Given the description of an element on the screen output the (x, y) to click on. 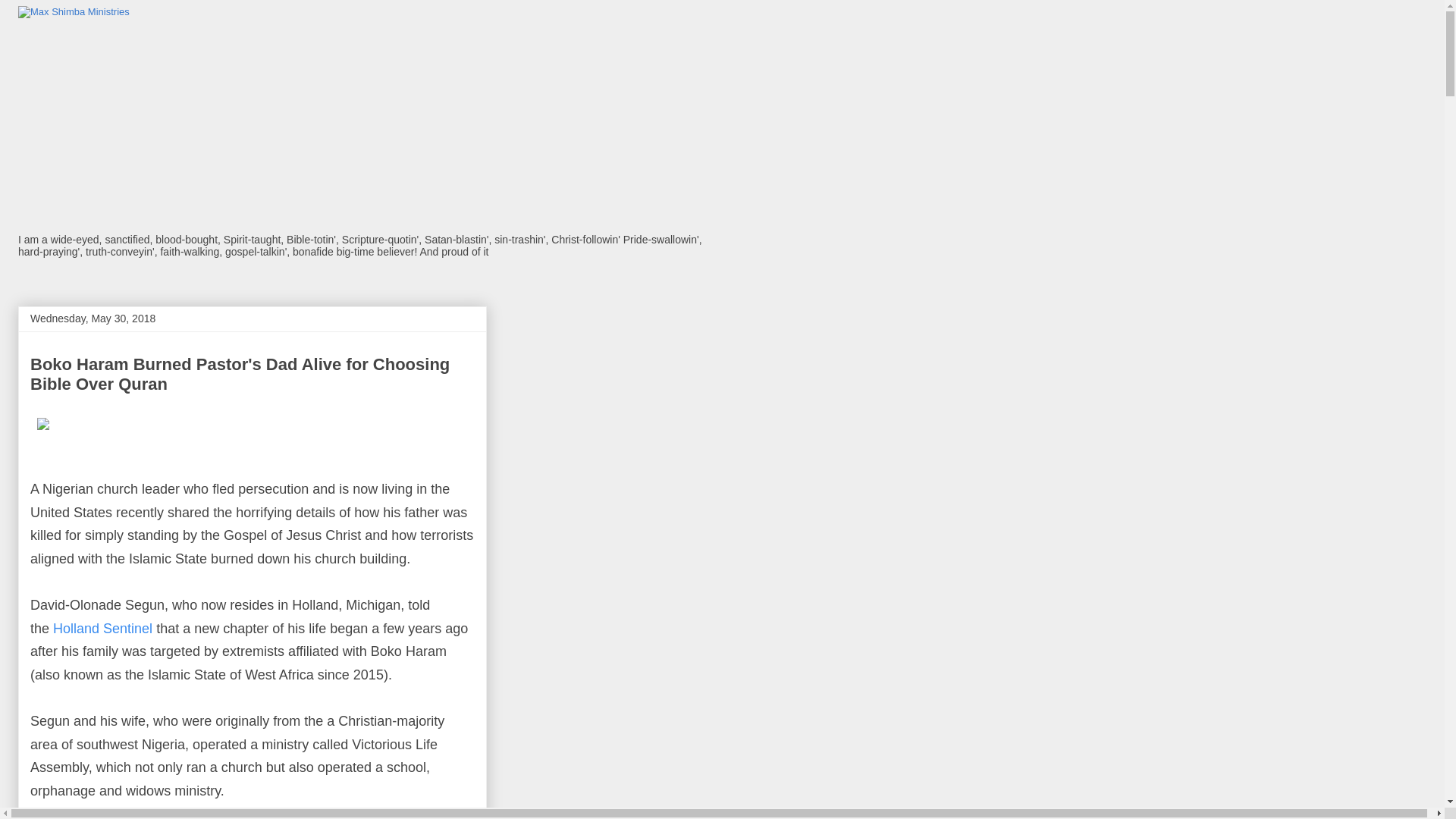
Holland Sentinel (102, 628)
